Given the description of an element on the screen output the (x, y) to click on. 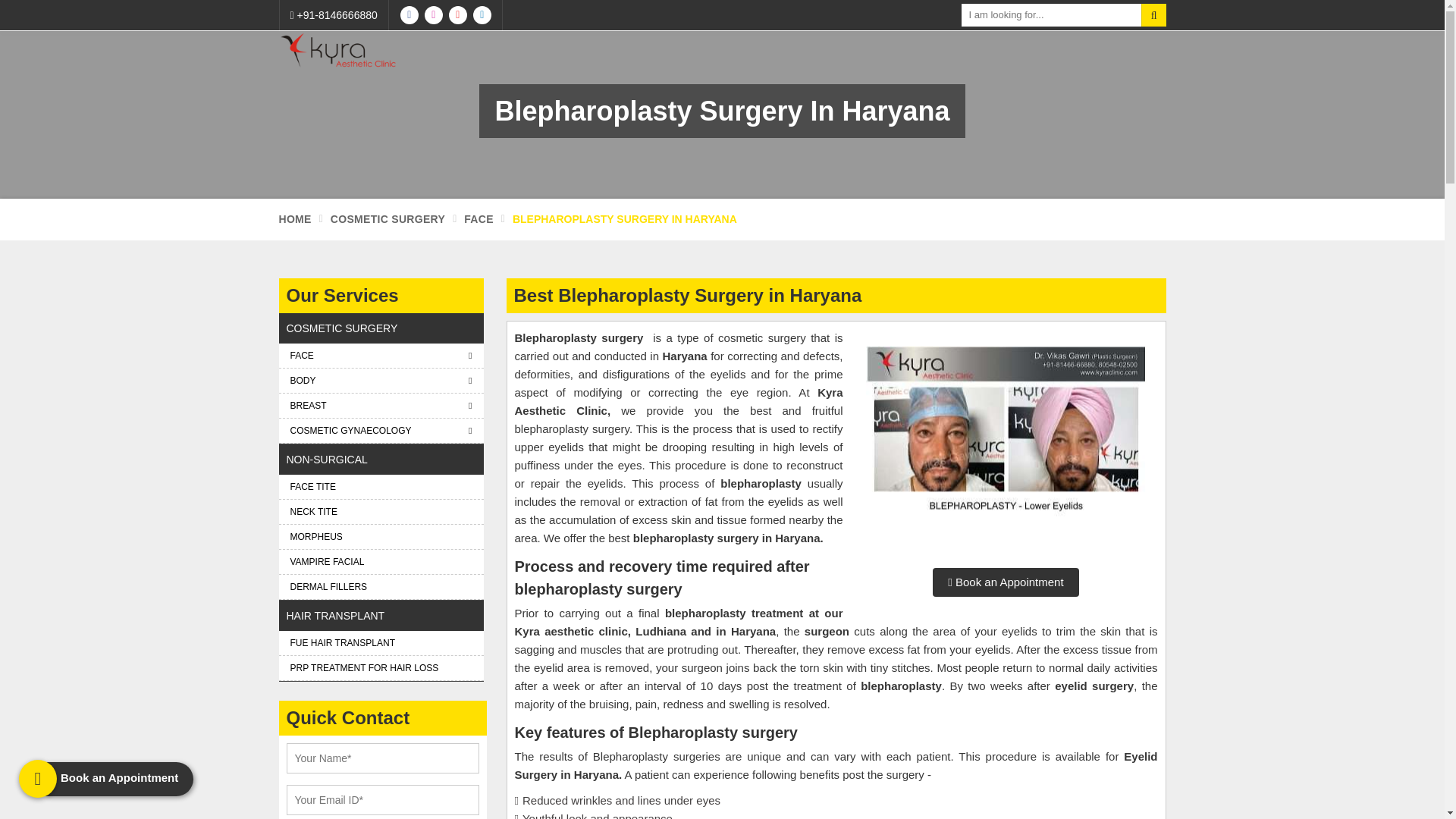
Best Blepharoplasty Surgery in Haryana (1005, 442)
Follow us on Facebook (409, 14)
Cosmetic Surgery (387, 219)
Best Blepharoplasty Surgery in Haryana (1006, 435)
Kyra Aesthetic Clinic (339, 50)
Follow us on Linked (482, 14)
Book an Appointment (1005, 582)
COSMETIC SURGERY (387, 219)
Book an Appointment (1005, 582)
Call Us (333, 15)
Follow us on Instagram (433, 14)
